Given the description of an element on the screen output the (x, y) to click on. 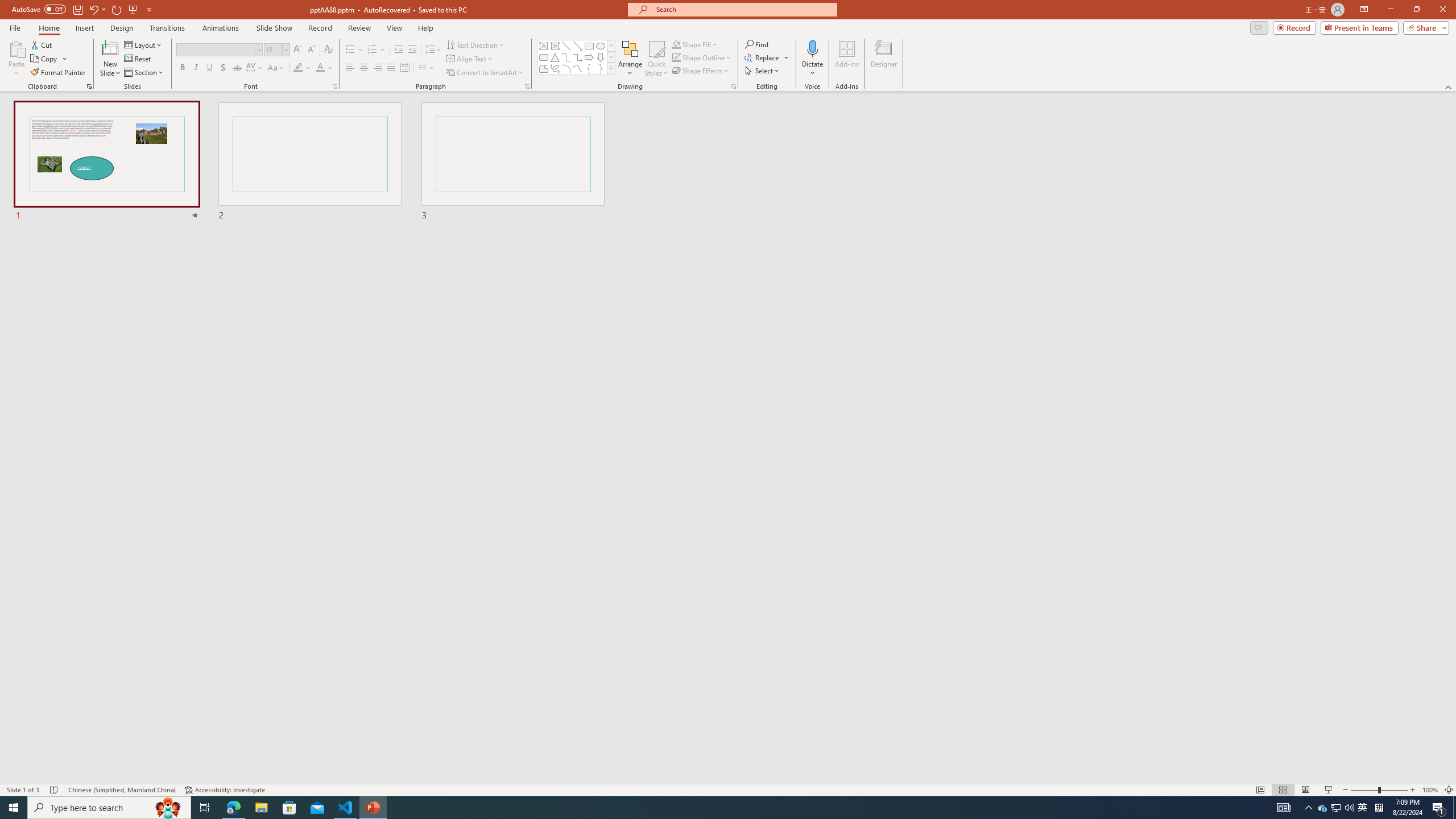
AutomationID: ShapesInsertGallery (576, 57)
Shadow (223, 67)
Rectangle: Rounded Corners (543, 57)
Right Brace (600, 68)
Align Right (377, 67)
Font Color Red (320, 67)
Find... (756, 44)
